Given the description of an element on the screen output the (x, y) to click on. 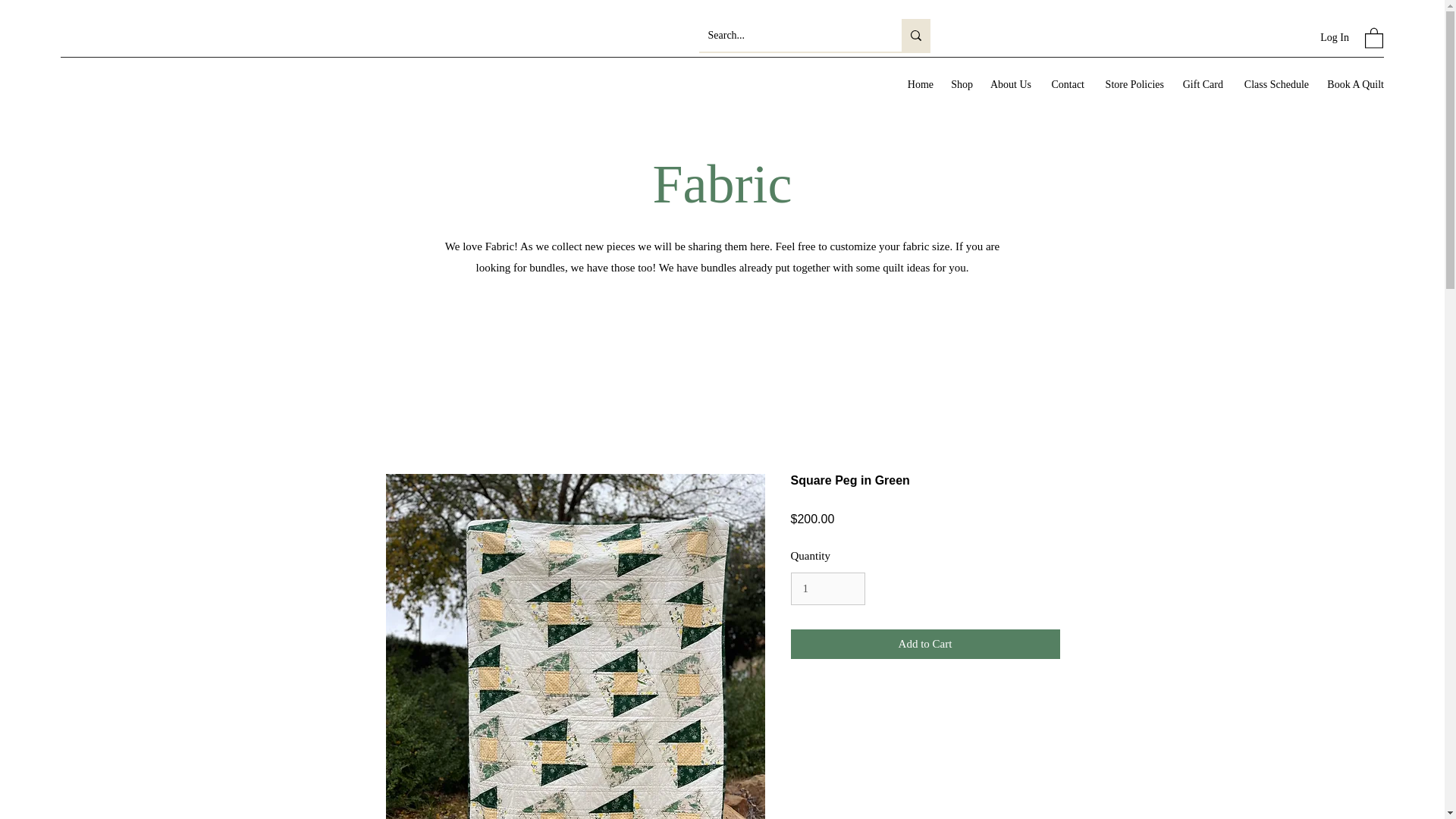
Shop (959, 84)
Log In (1333, 37)
Gift Card (1201, 84)
Class Schedule (1273, 84)
Store Policies (1132, 84)
About Us (1009, 84)
Home (918, 84)
1 (827, 589)
Contact (1065, 84)
Add to Cart (924, 644)
